Given the description of an element on the screen output the (x, y) to click on. 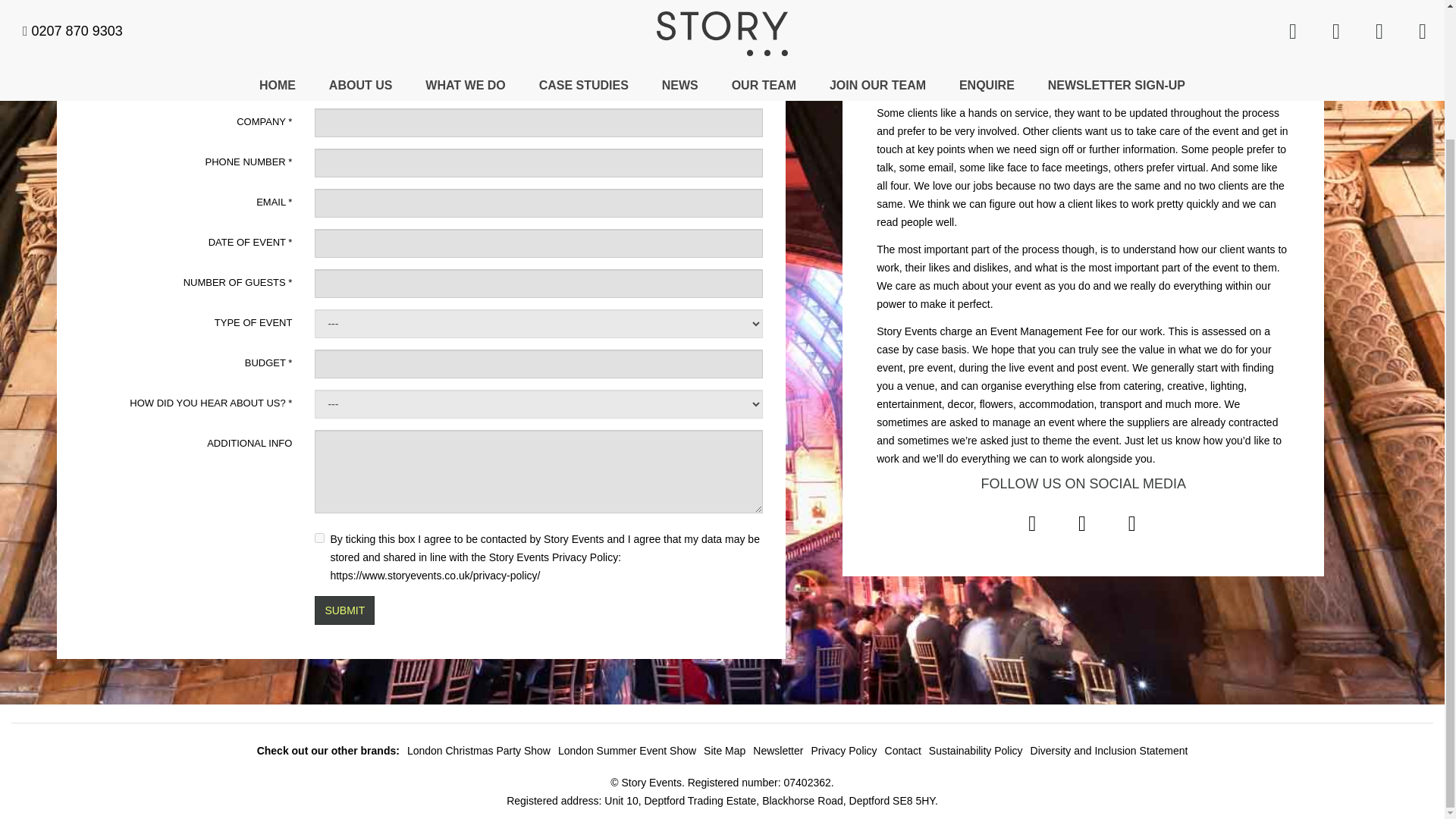
London Summer Event Show (626, 750)
Submit (344, 610)
Newsletter (777, 750)
02078709303 (1193, 10)
email (556, 50)
Diversity and Inclusion Statement (1109, 750)
London Christmas Party Show (478, 750)
Contact (903, 750)
Site Map (724, 750)
0207 870 9303 (674, 50)
Privacy Policy (843, 750)
Sustainability Policy (975, 750)
Submit (344, 610)
